Given the description of an element on the screen output the (x, y) to click on. 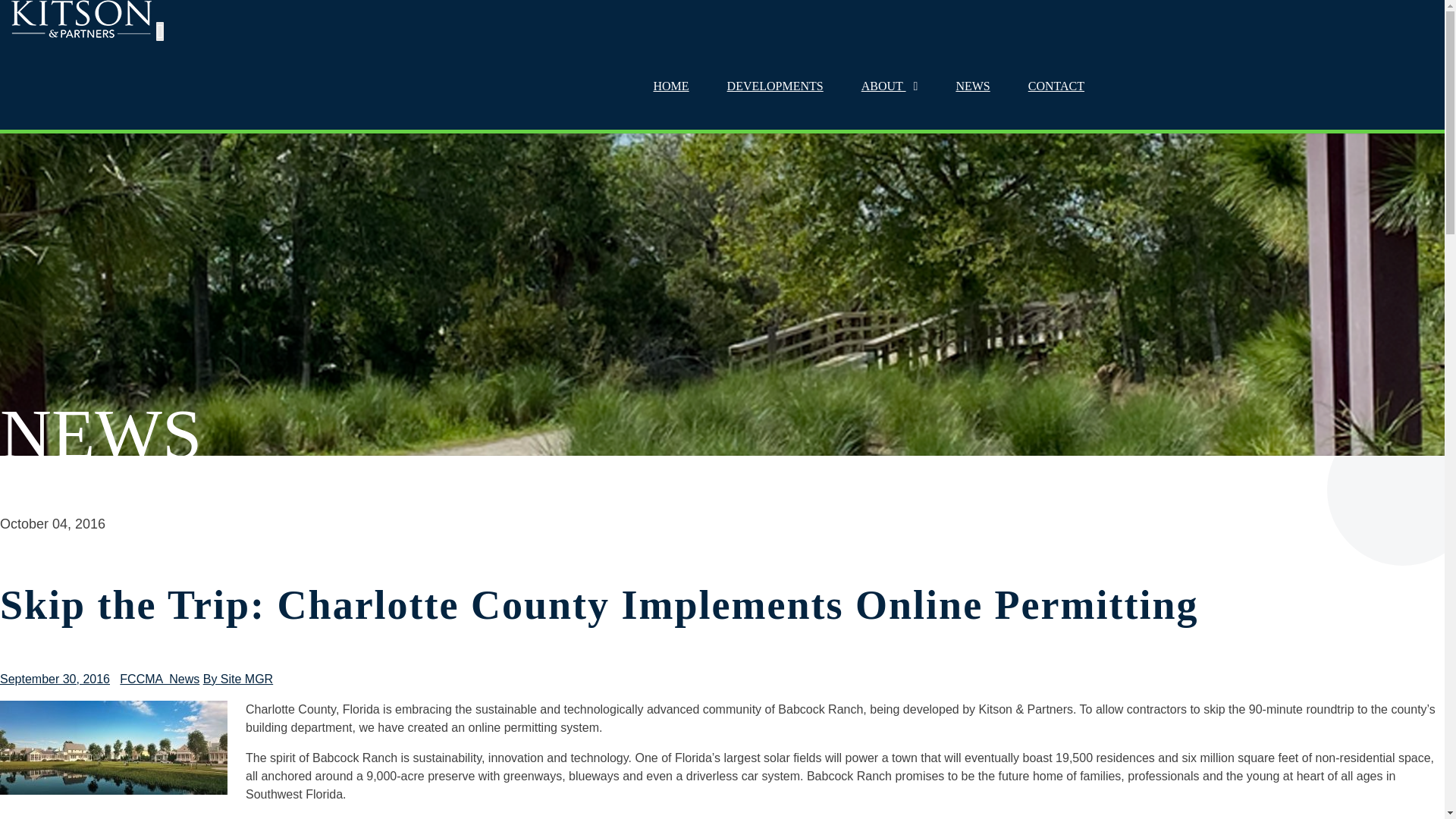
DEVELOPMENTS (774, 86)
ABOUT (889, 86)
CONTACT (1056, 86)
By Site MGR (238, 678)
September 30, 2016 (55, 678)
FCCMA  News (159, 678)
